Given the description of an element on the screen output the (x, y) to click on. 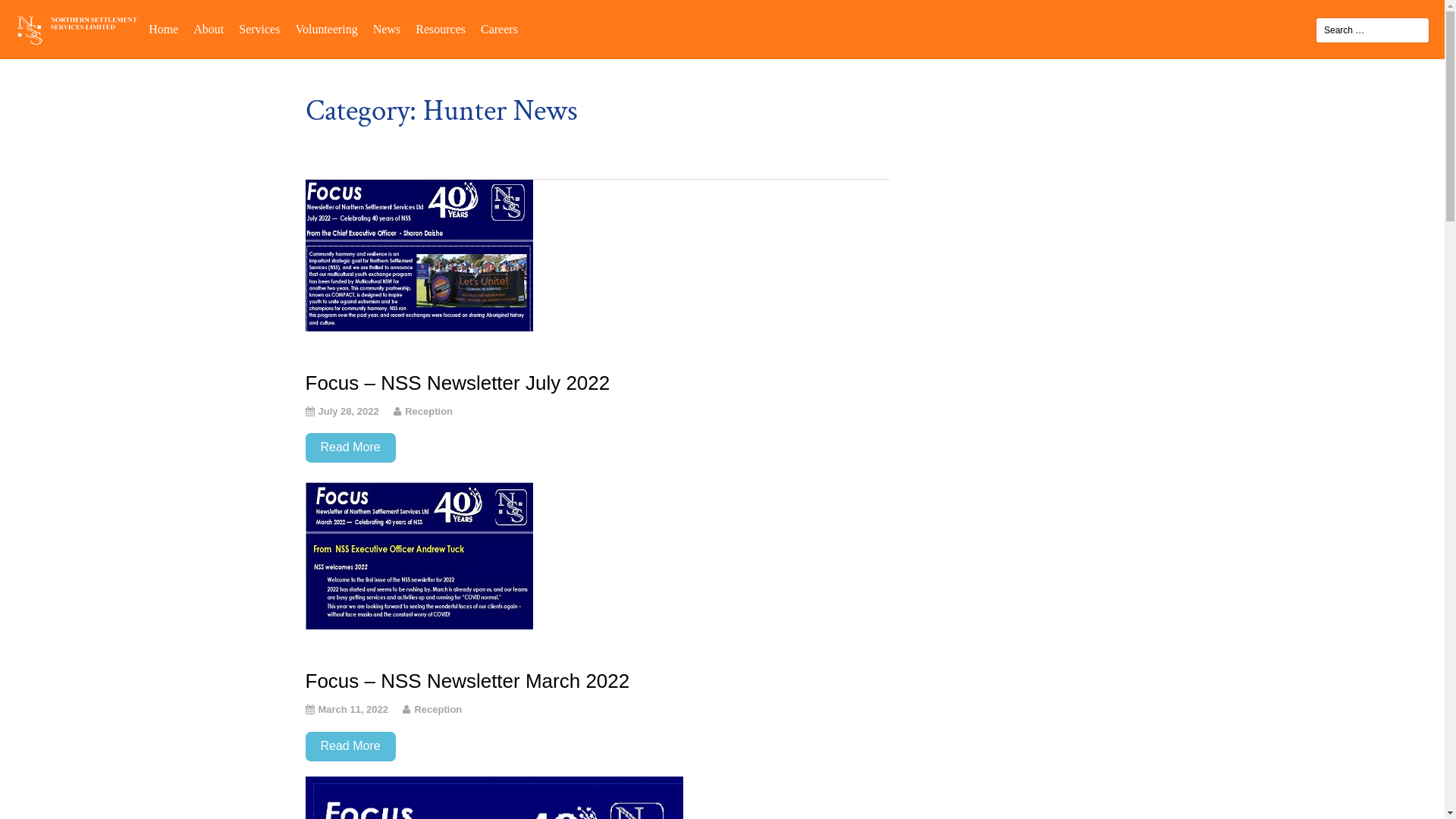
News Element type: text (386, 29)
Read More Element type: text (349, 447)
Read More Element type: text (349, 746)
Search for: Element type: hover (1372, 30)
Resources Element type: text (440, 29)
Services Element type: text (259, 29)
Careers Element type: text (499, 29)
About Element type: text (208, 29)
Home Element type: text (163, 29)
Volunteering Element type: text (325, 29)
Search Element type: text (32, 15)
